Given the description of an element on the screen output the (x, y) to click on. 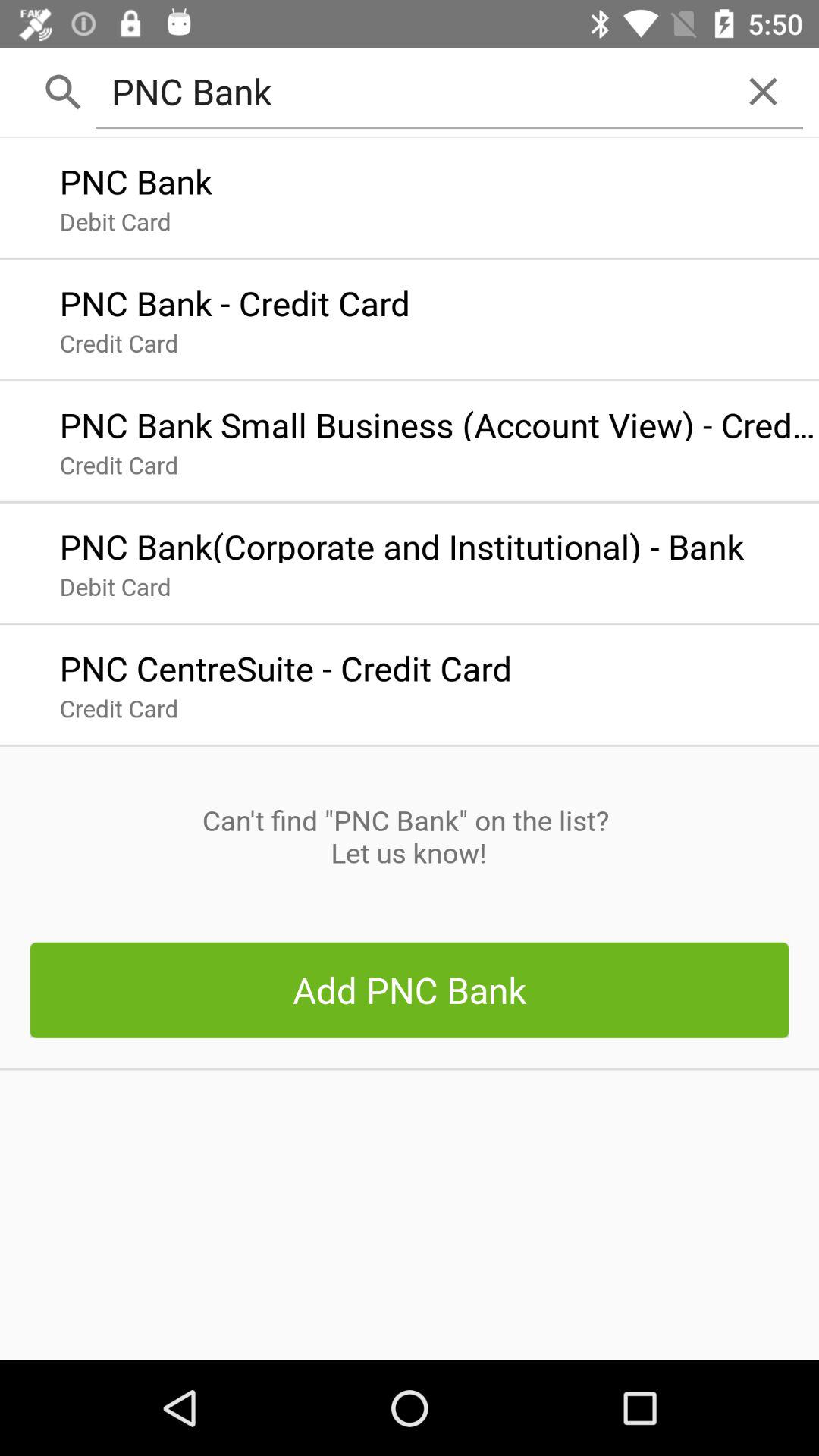
click the app below the credit card item (408, 836)
